Given the description of an element on the screen output the (x, y) to click on. 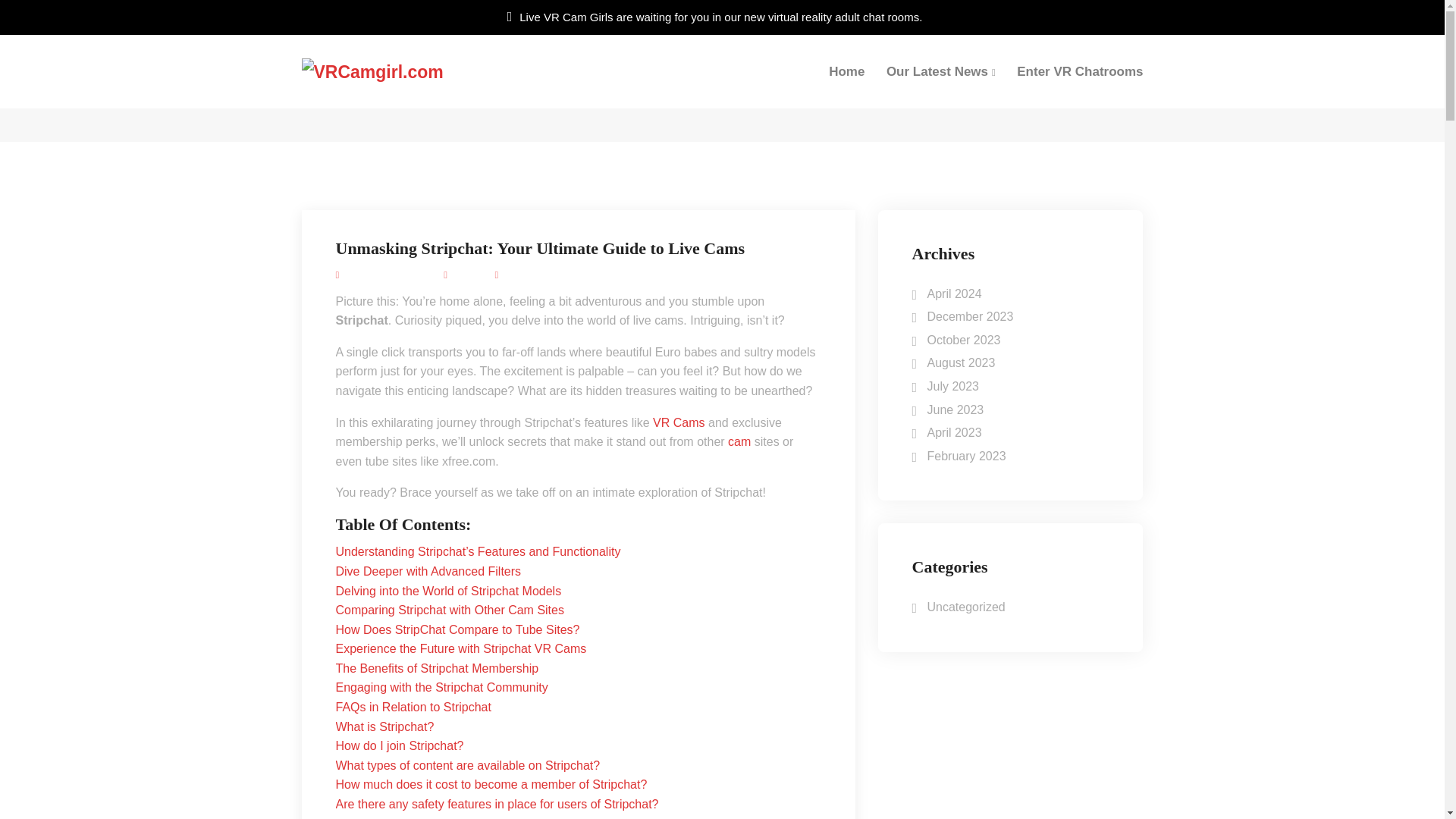
What is Stripchat? (383, 726)
How Does StripChat Compare to Tube Sites? (456, 629)
Home (846, 71)
admin (465, 273)
Delving into the World of Stripchat Models (447, 590)
Conclusion (364, 818)
Home (556, 85)
VRCamgirl.com (398, 70)
VR Cams (678, 422)
Dive Deeper with Advanced Filters (427, 571)
How do I join Stripchat? (398, 745)
FAQs in Relation to Stripchat (412, 707)
cam (739, 440)
Enter VR Chatrooms (1079, 71)
